Given the description of an element on the screen output the (x, y) to click on. 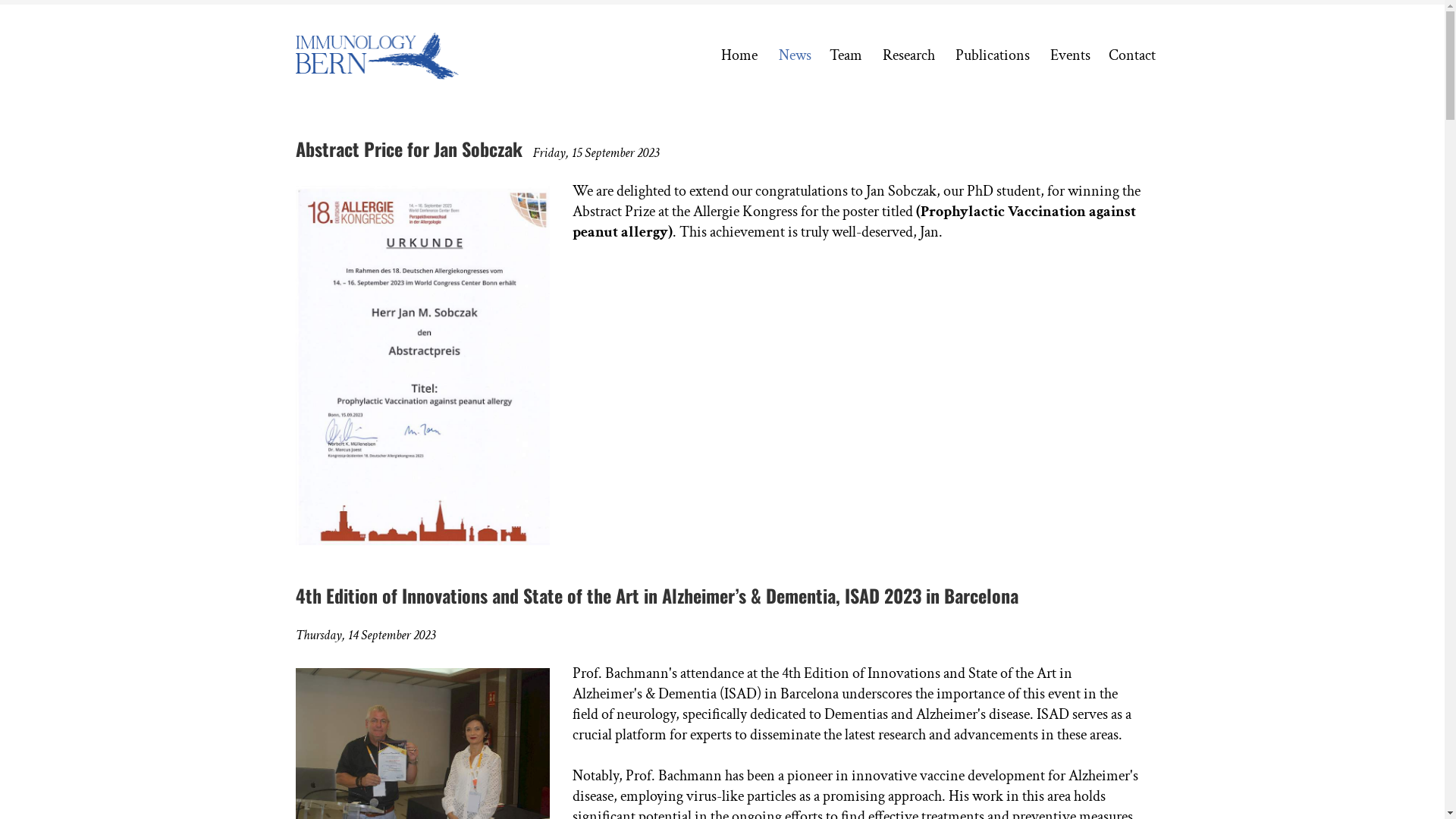
Publications Element type: text (993, 55)
Events Element type: text (1069, 55)
Home Element type: text (738, 55)
Research Element type: text (909, 55)
Team Element type: text (846, 55)
News Element type: text (793, 55)
Contact Element type: text (1131, 55)
